Given the description of an element on the screen output the (x, y) to click on. 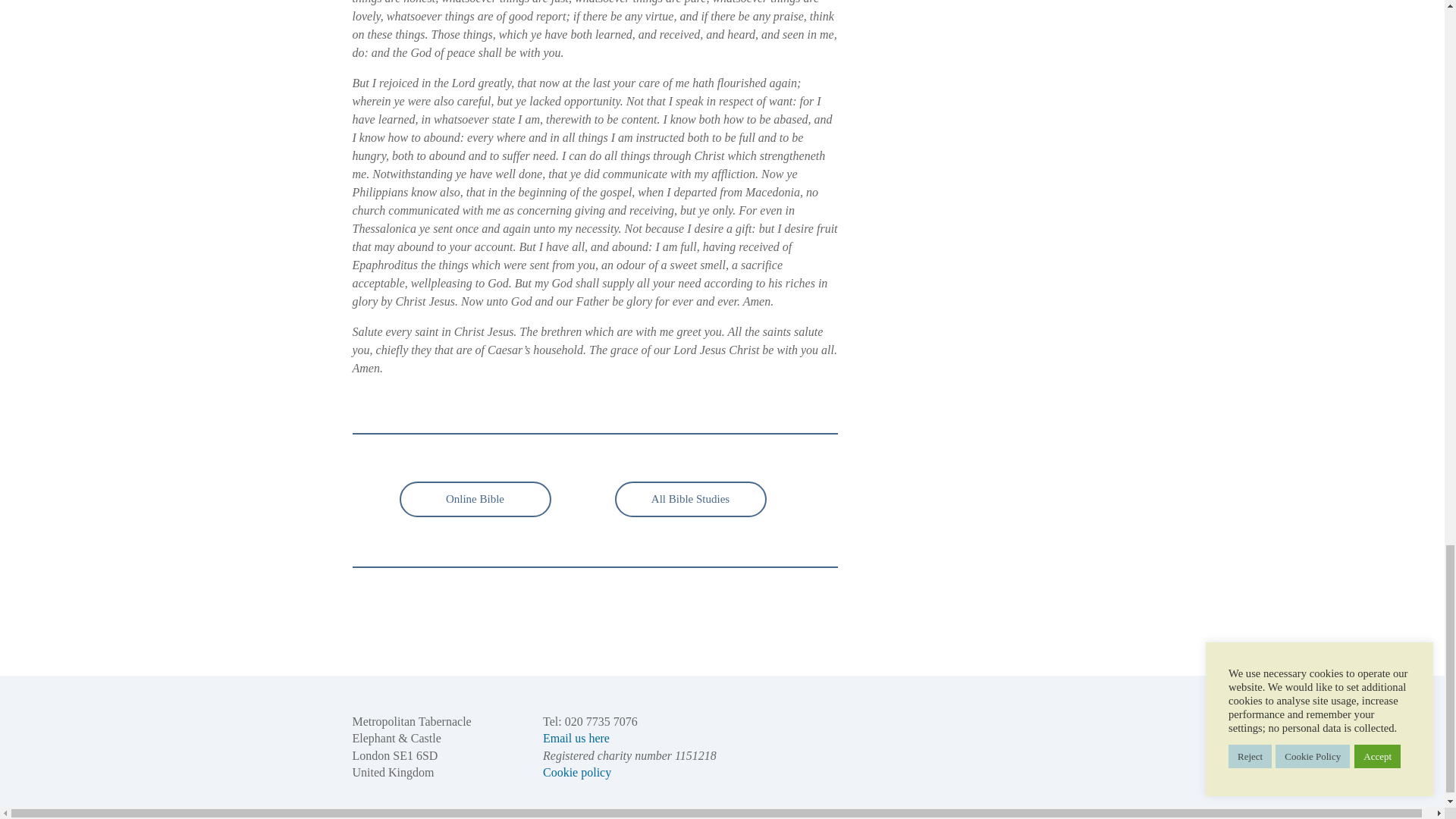
All Bible Studies (689, 498)
Online Bible (474, 498)
